Given the description of an element on the screen output the (x, y) to click on. 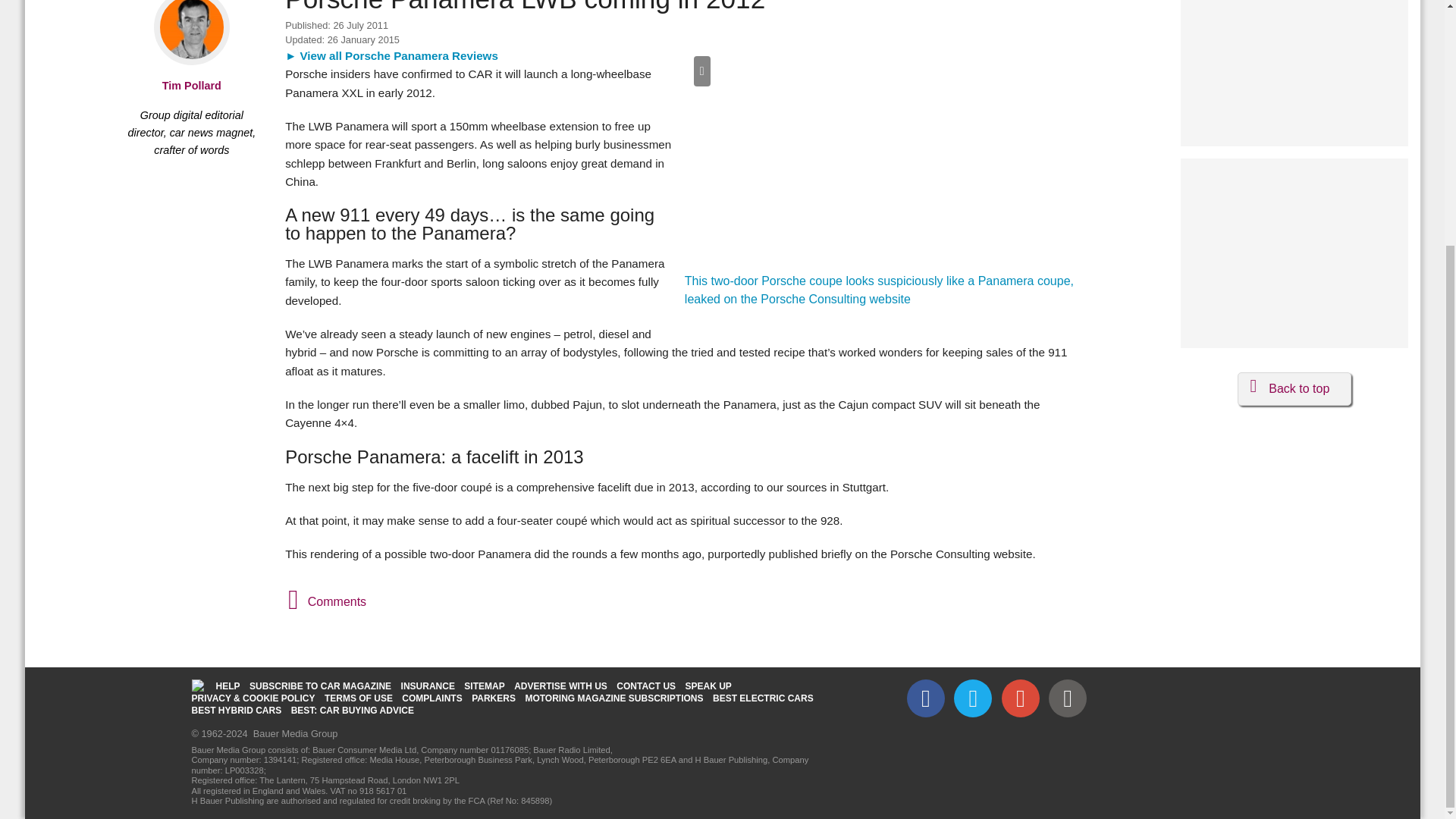
View all Porsche Panamera Reviews (391, 55)
